Given the description of an element on the screen output the (x, y) to click on. 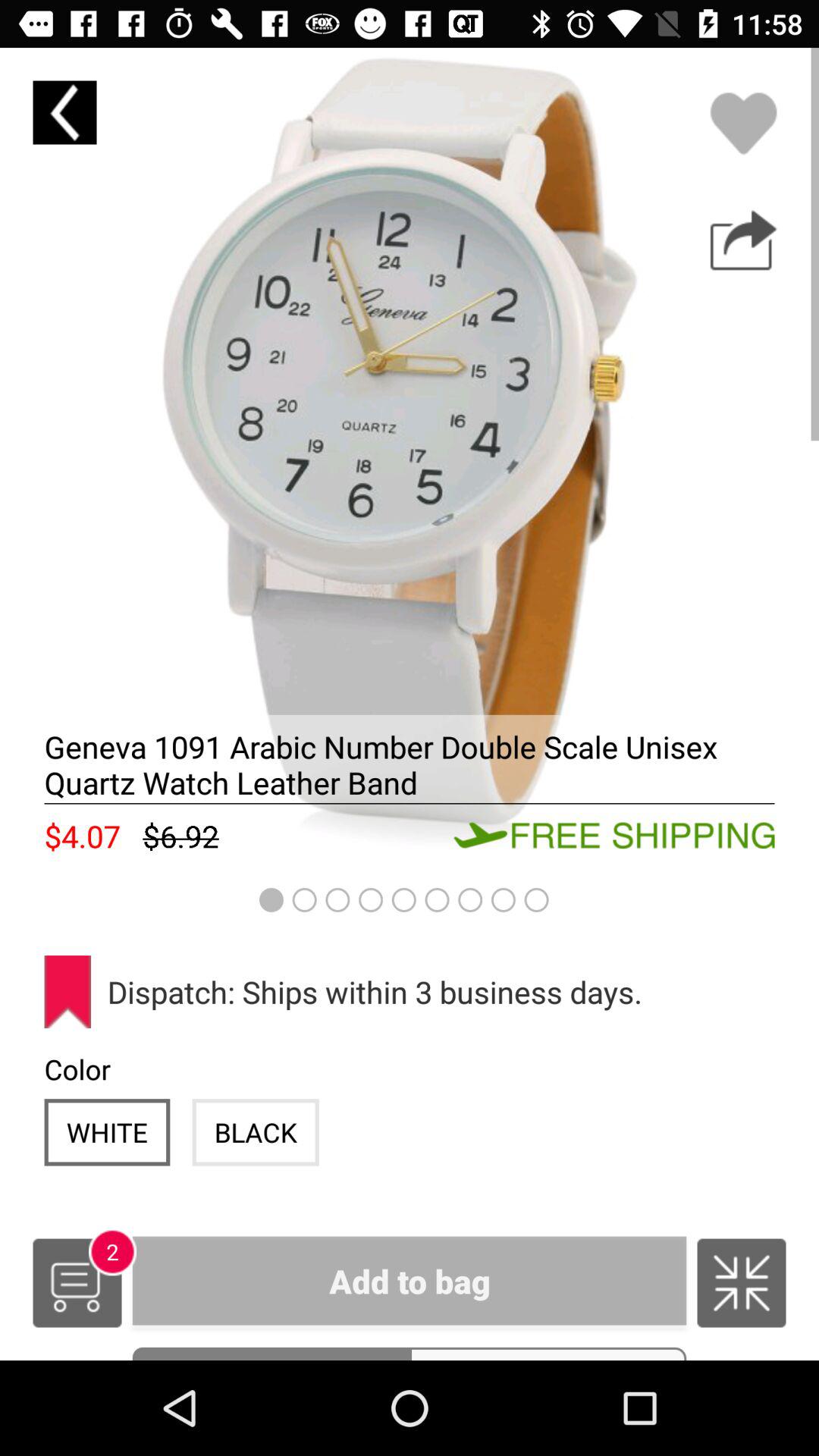
mark as favorite (743, 122)
